Given the description of an element on the screen output the (x, y) to click on. 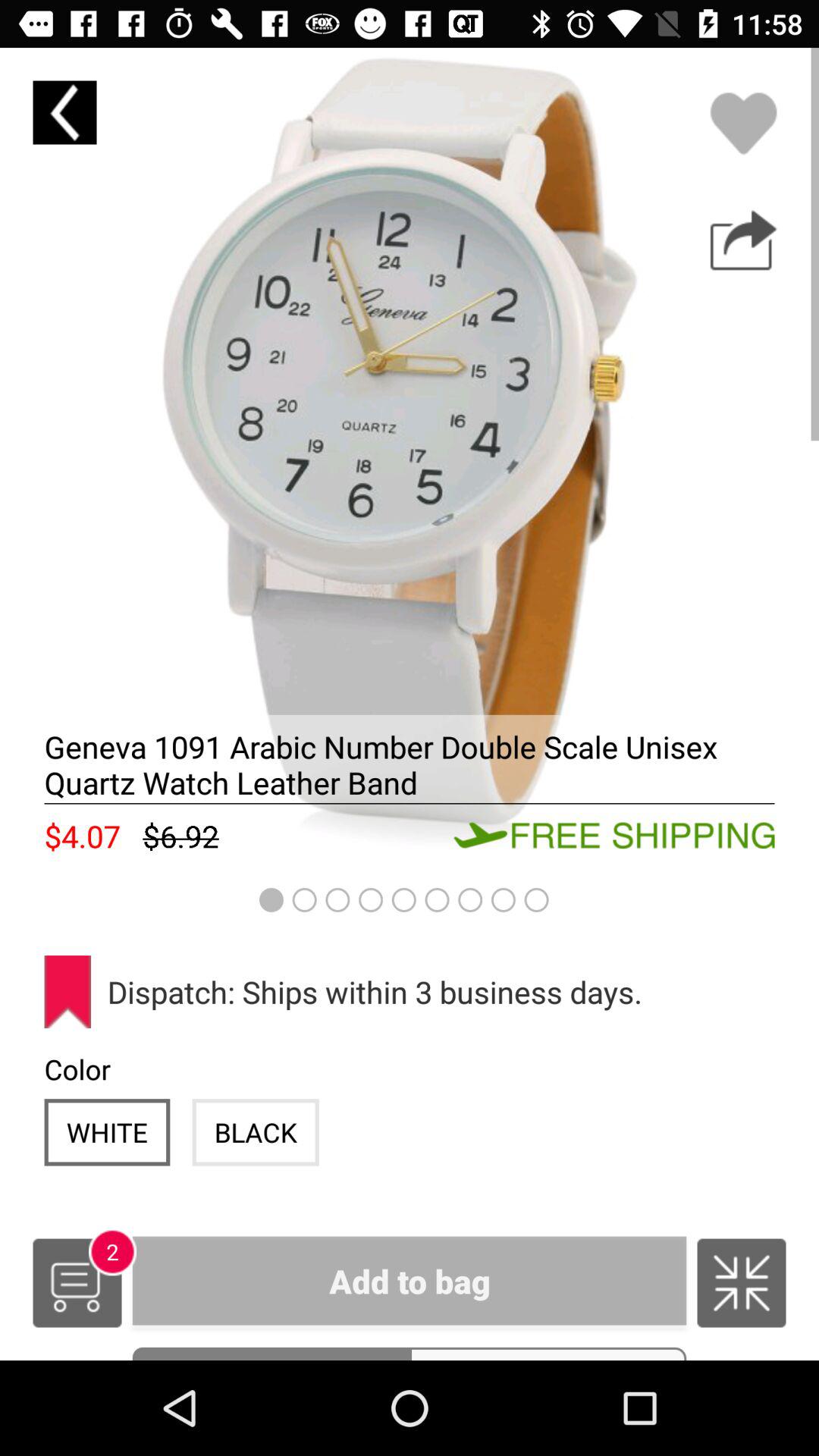
mark as favorite (743, 122)
